Given the description of an element on the screen output the (x, y) to click on. 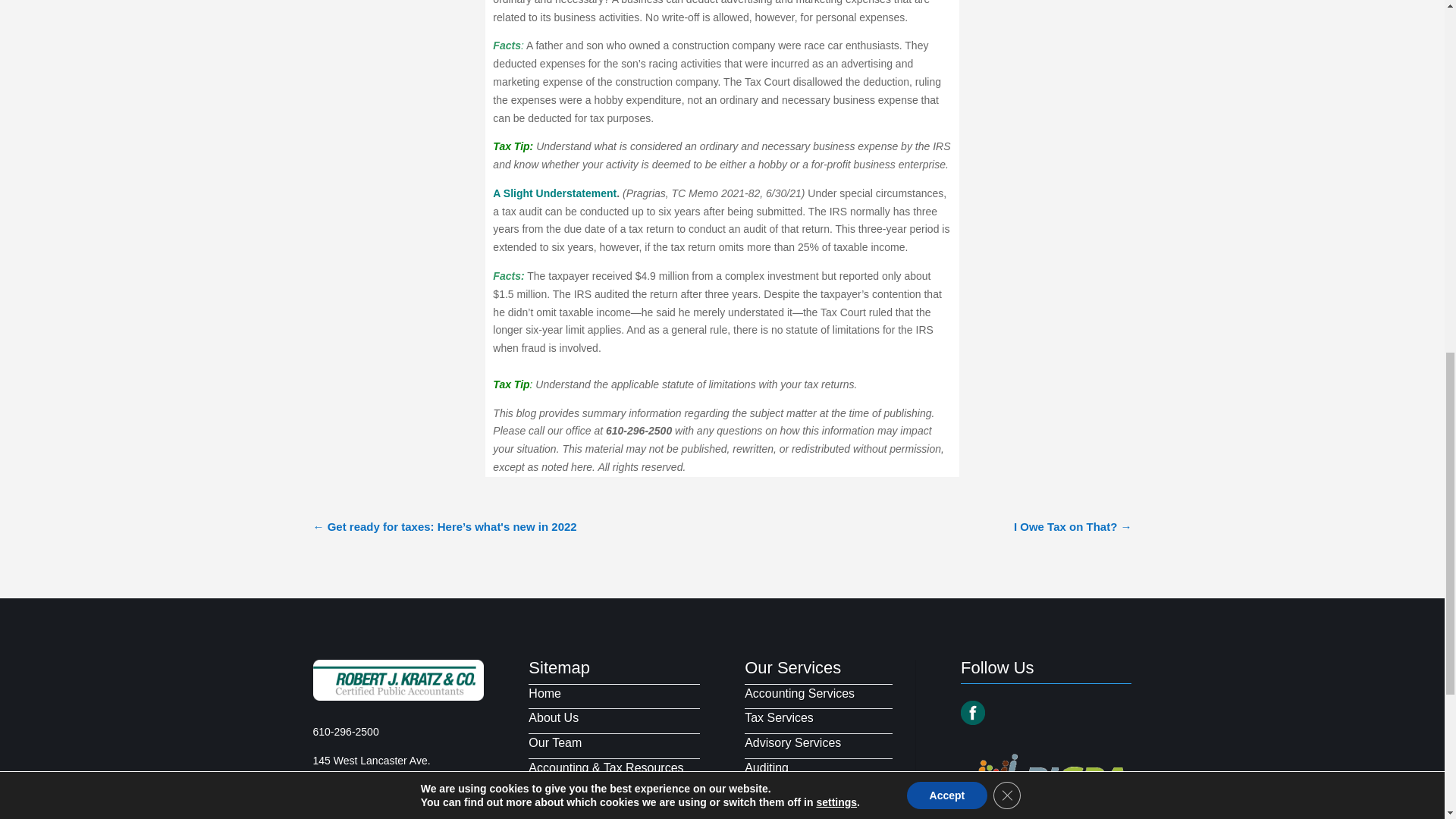
PICPA transparent3 (1045, 782)
